Given the description of an element on the screen output the (x, y) to click on. 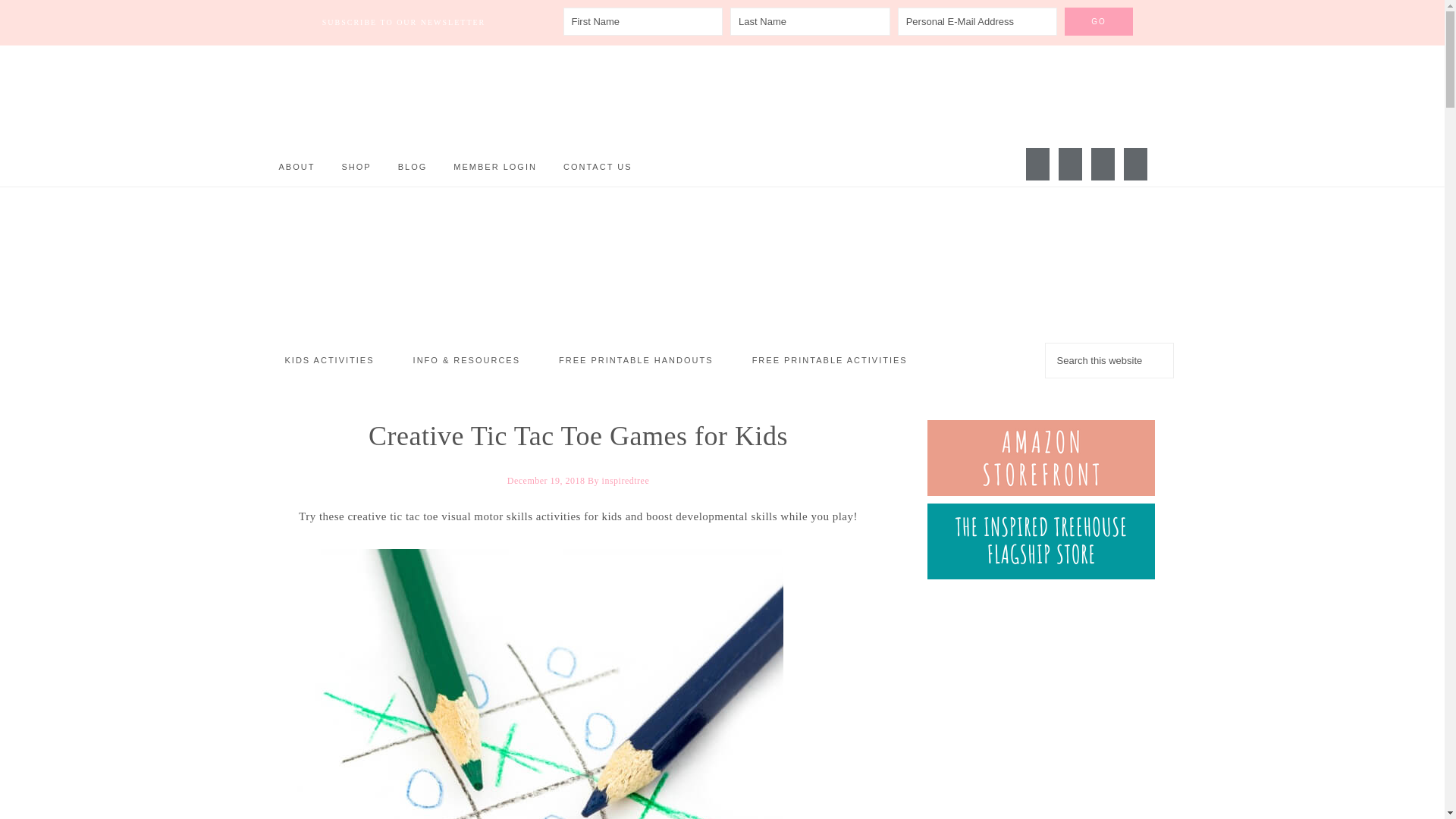
Go (1098, 21)
MEMBER LOGIN (495, 167)
amazon storefront (1040, 491)
FREE PRINTABLE HANDOUTS (635, 360)
inspired treehouse flagship store (1040, 575)
FREE PRINTABLE ACTIVITIES (829, 360)
Go (1098, 21)
CONTACT US (597, 167)
SHOP (355, 167)
